Given the description of an element on the screen output the (x, y) to click on. 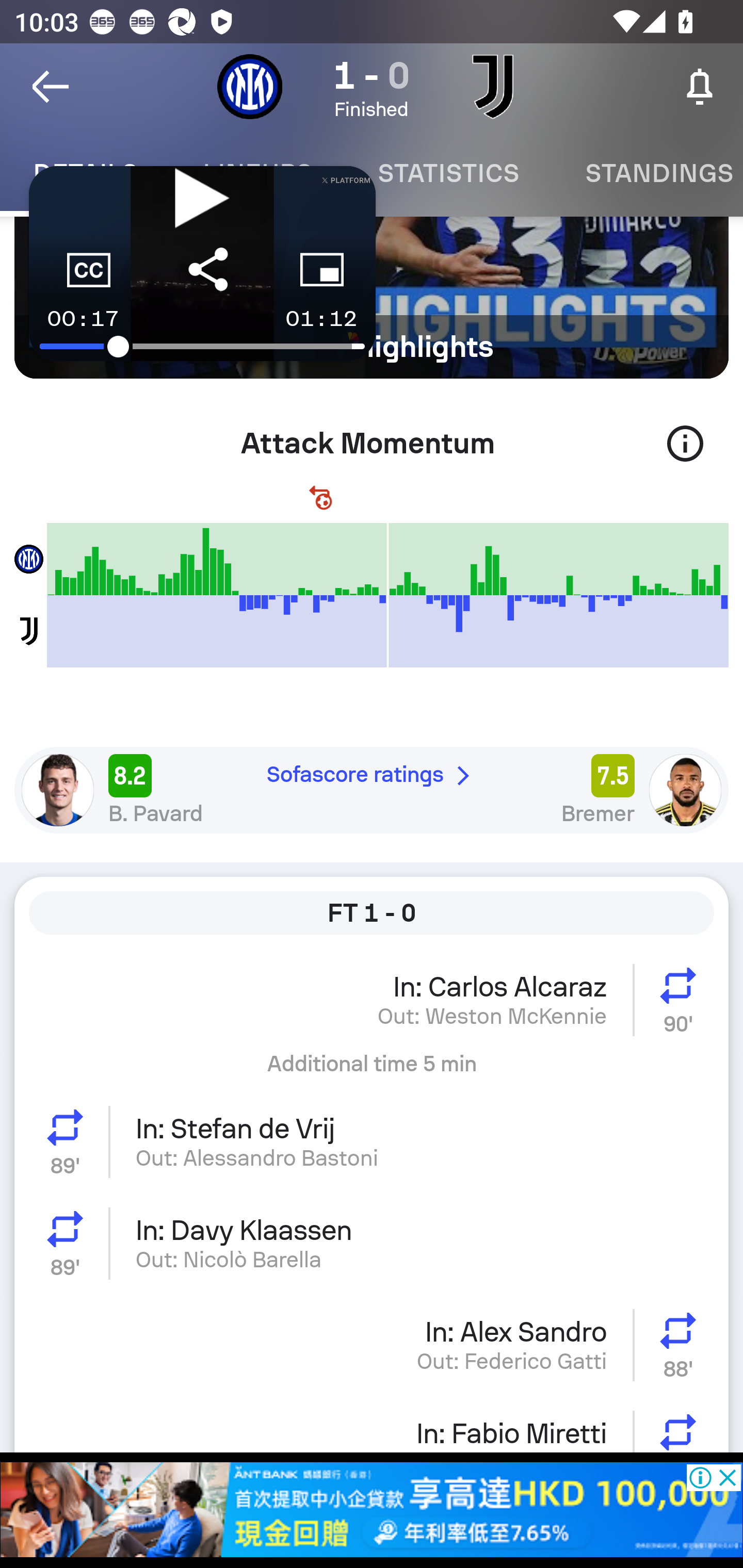
Navigate up (50, 86)
Statistics STATISTICS (448, 173)
Standings STANDINGS (647, 173)
8.2 Sofascore ratings 7.5 B. Pavard Bremer (371, 790)
FT 1 - 0 (371, 912)
Additional time 5 min (371, 1070)
